Given the description of an element on the screen output the (x, y) to click on. 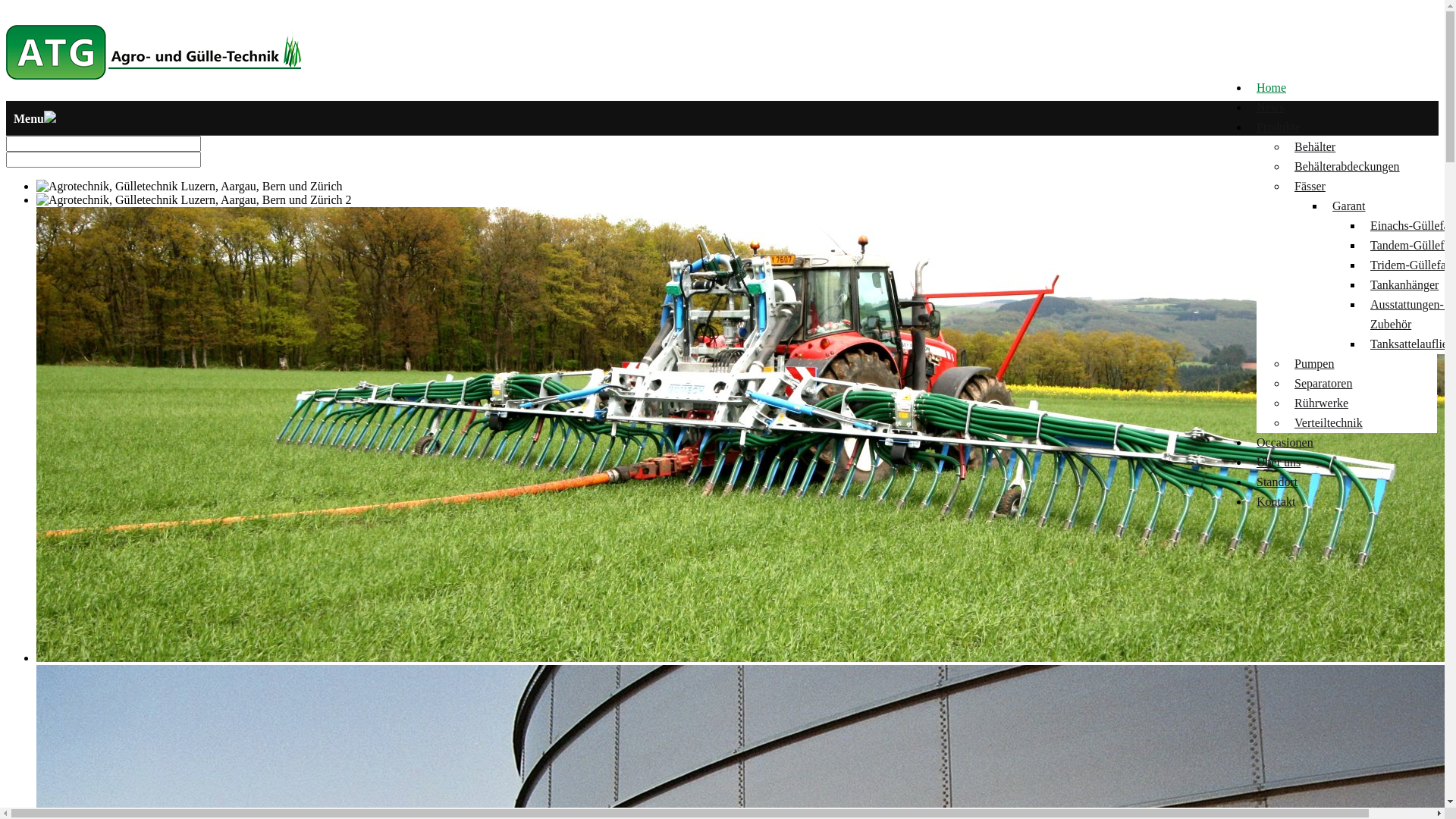
Verteiltechnik Element type: text (1328, 422)
Kontakt Element type: text (1275, 501)
News Element type: text (1269, 106)
Pumpen Element type: text (1313, 363)
Home Element type: text (1271, 87)
Garant Element type: text (1348, 205)
Standort Element type: text (1276, 481)
Separatoren Element type: text (1323, 382)
Occasionen Element type: text (1284, 442)
Produkte Element type: text (1278, 126)
